Given the description of an element on the screen output the (x, y) to click on. 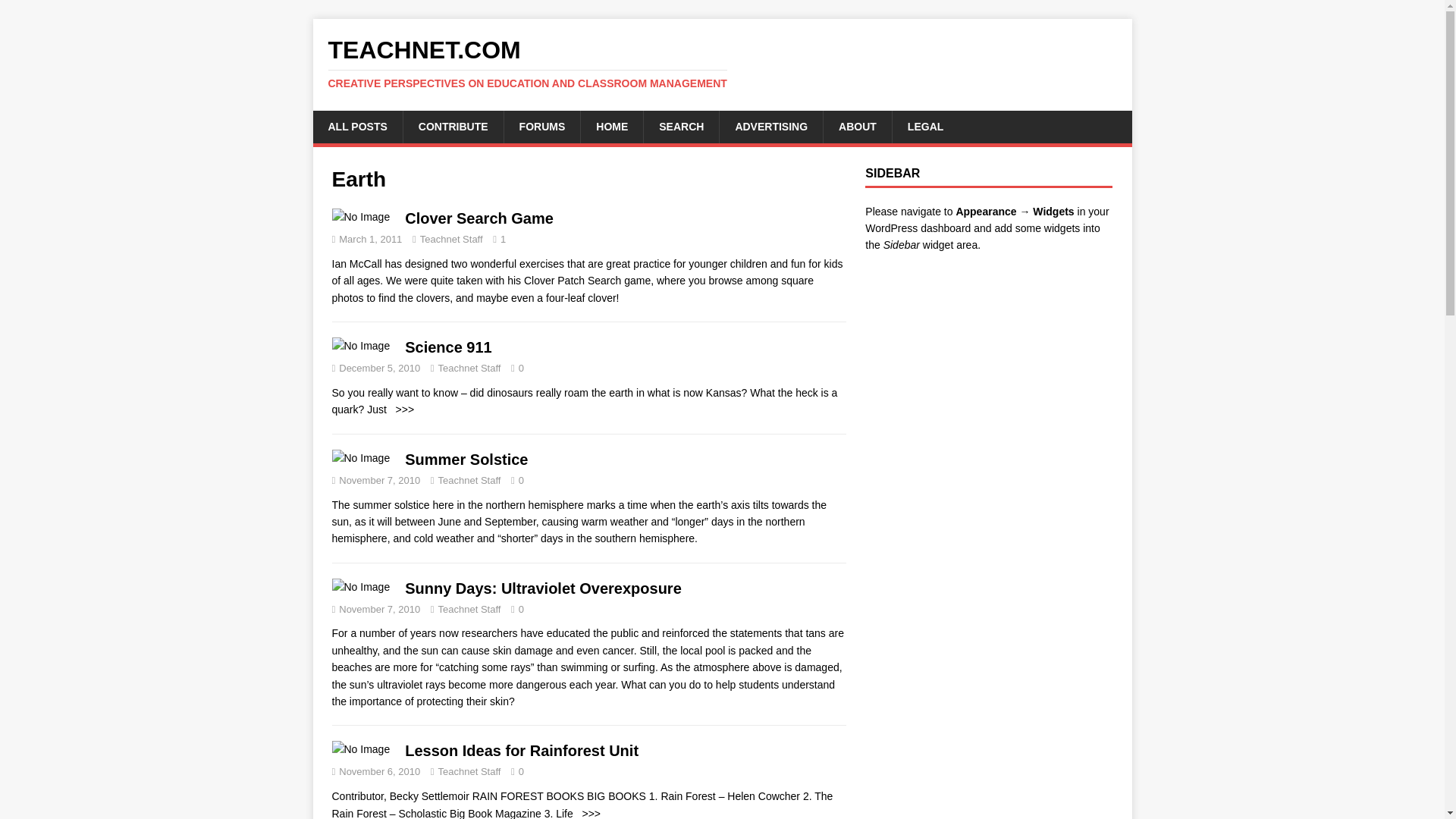
HOME (611, 126)
FORUMS (541, 126)
Teachnet Staff (451, 238)
SEARCH (681, 126)
Sunny Days: Ultraviolet Overexposure (542, 588)
CONTRIBUTE (453, 126)
ADVERTISING (770, 126)
Teachnet.com (721, 63)
Lesson Ideas for Rainforest Unit (587, 813)
